Given the description of an element on the screen output the (x, y) to click on. 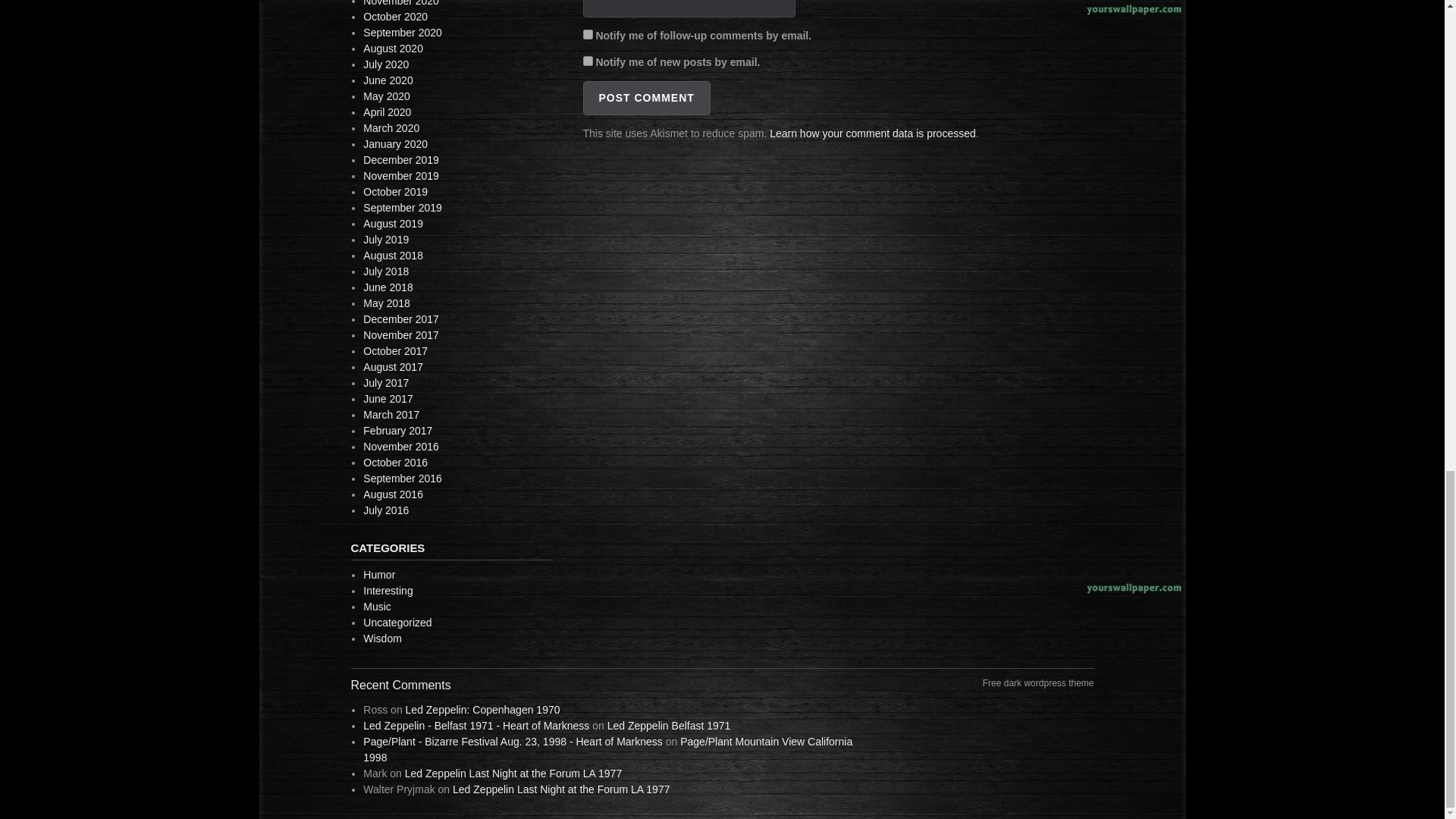
subscribe (587, 61)
Learn how your comment data is processed (872, 133)
Post Comment (646, 98)
subscribe (587, 34)
Post Comment (646, 98)
